Given the description of an element on the screen output the (x, y) to click on. 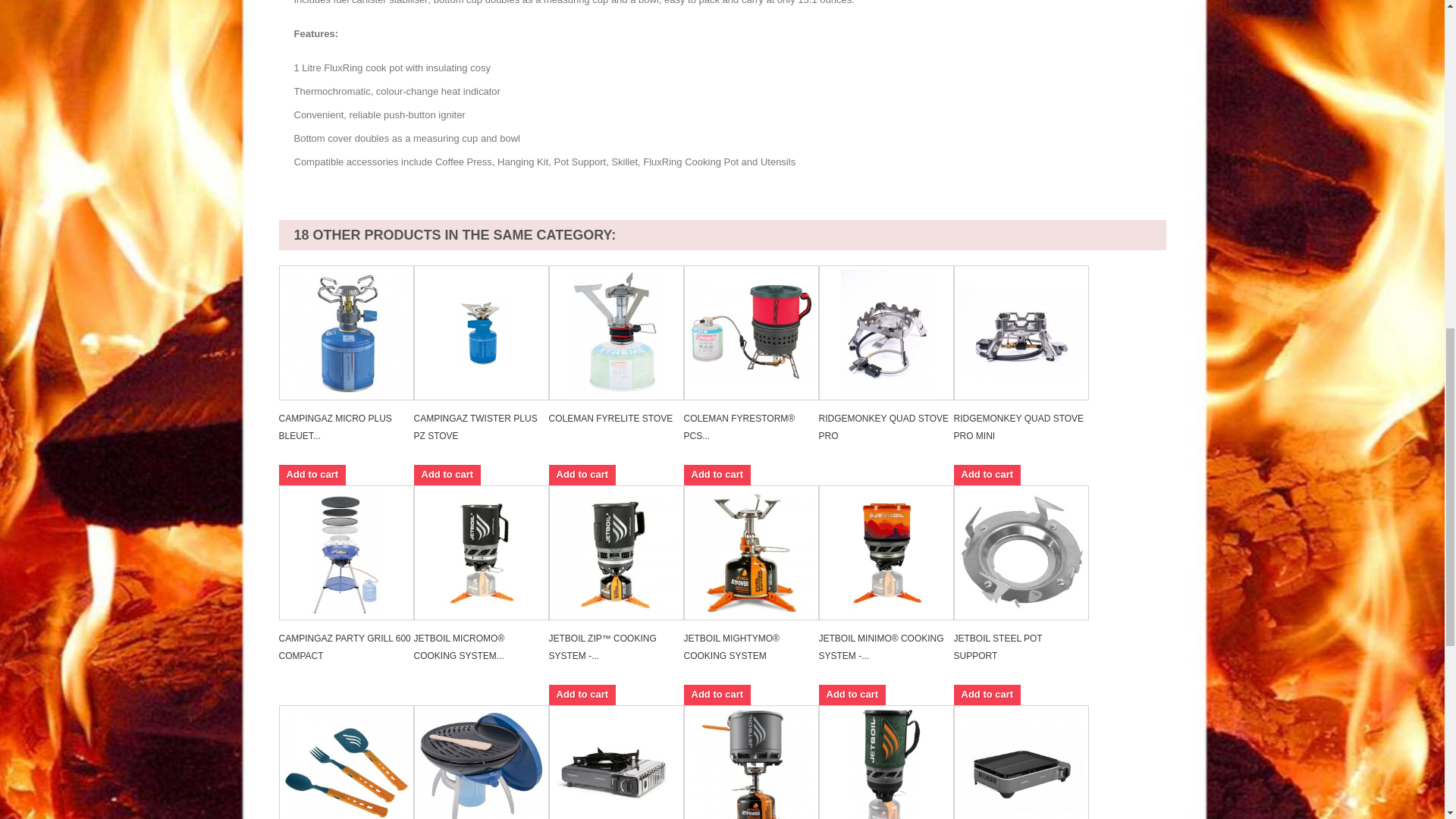
RIDGEMONKEY QUAD STOVE PRO MINI (1018, 427)
Add to cart (447, 475)
Add to cart (312, 475)
COLEMAN FYRELITE STOVE (610, 418)
Add to cart (581, 475)
Add to cart (717, 475)
RIDGEMONKEY QUAD STOVE PRO (883, 427)
CAMPINGAZ MICRO PLUS BLEUET... (335, 427)
CAMPINGAZ TWISTER PLUS PZ STOVE (475, 427)
